Given the description of an element on the screen output the (x, y) to click on. 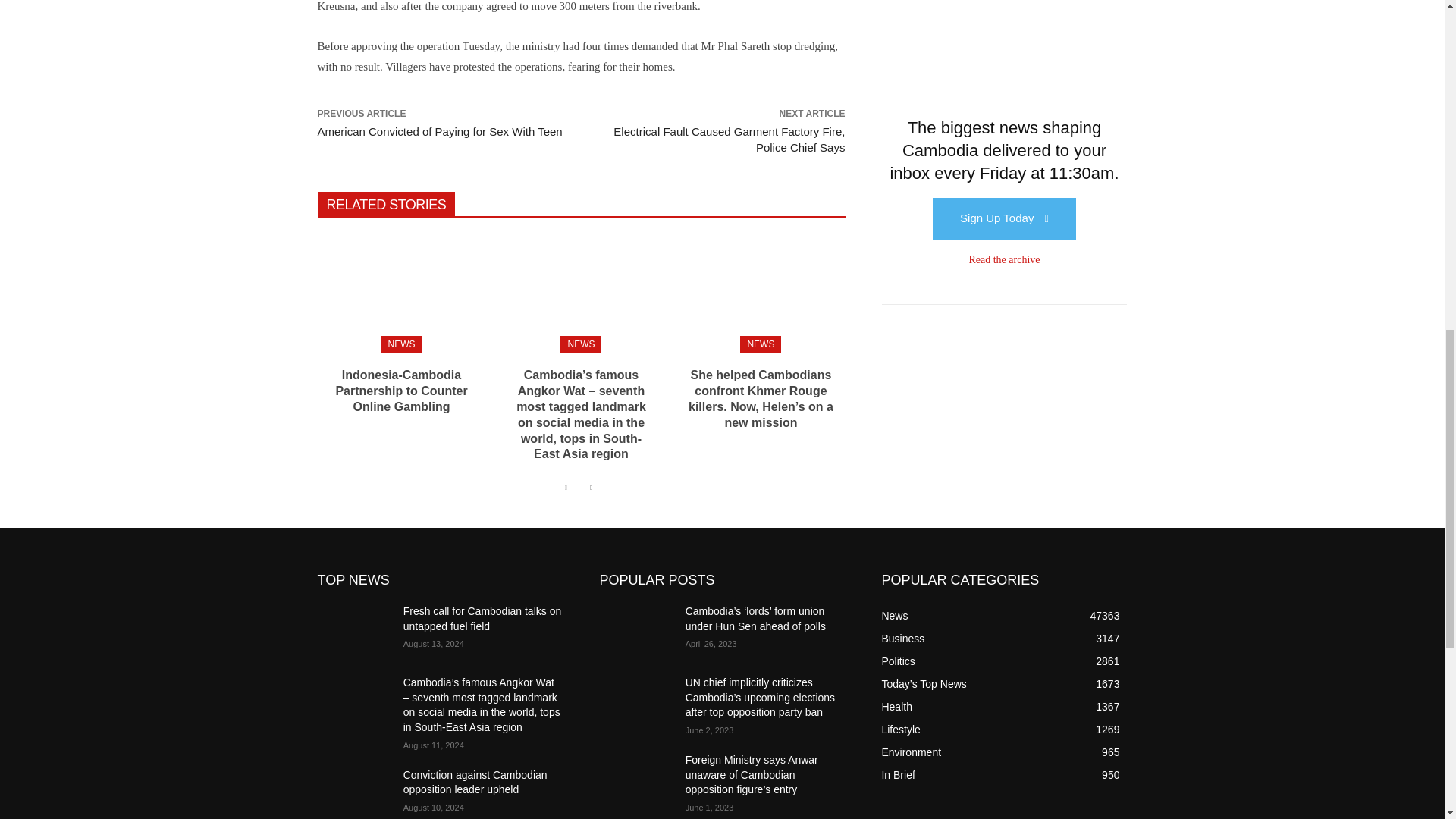
American Convicted of Paying for Sex With Teen (439, 131)
NEWS (580, 343)
Indonesia-Cambodia Partnership to Counter Online Gambling (400, 390)
NEWS (401, 343)
Indonesia-Cambodia Partnership to Counter Online Gambling (400, 290)
NEWS (759, 343)
Indonesia-Cambodia Partnership to Counter Online Gambling (400, 390)
